Given the description of an element on the screen output the (x, y) to click on. 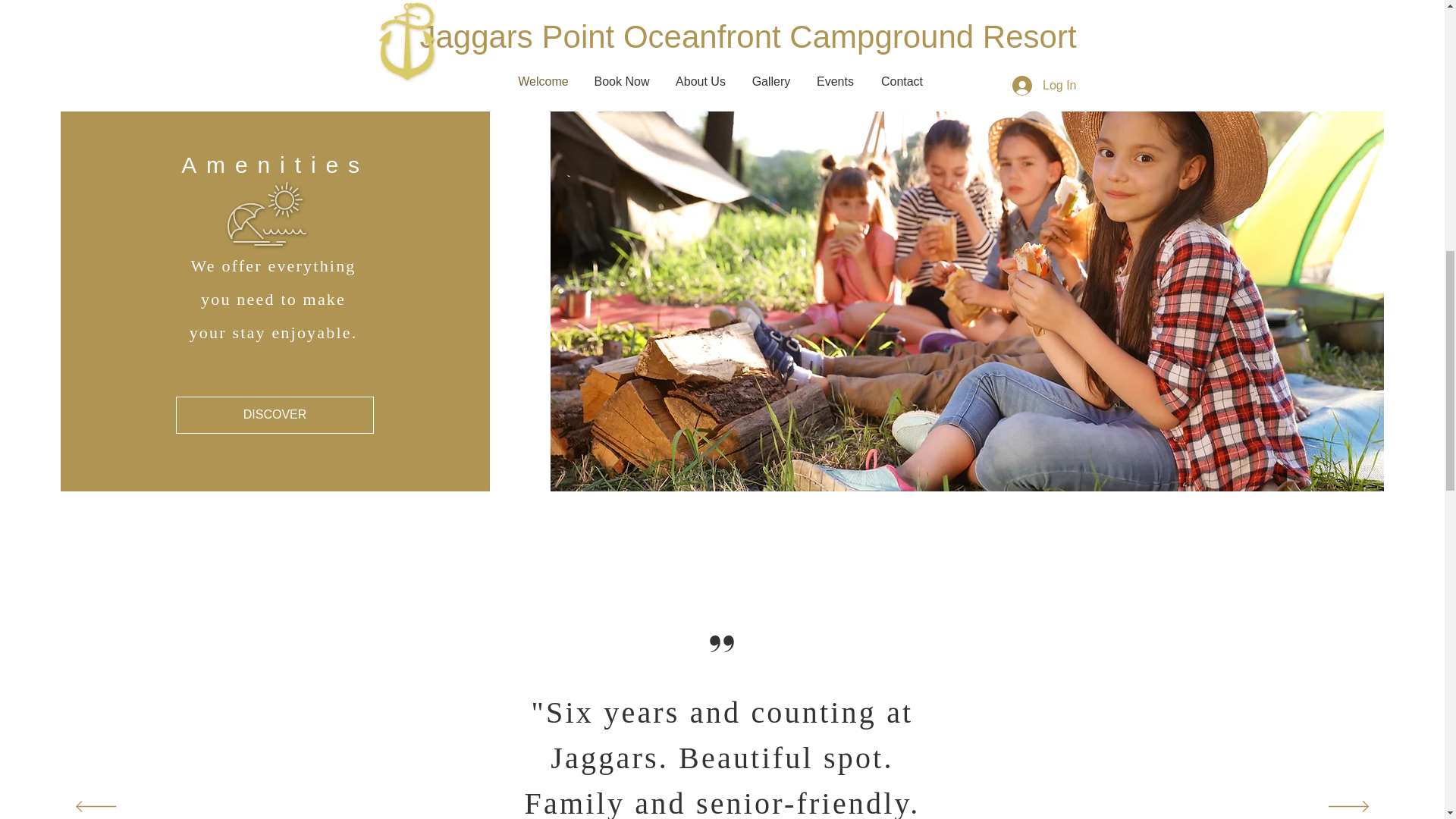
DISCOVER (275, 415)
